Given the description of an element on the screen output the (x, y) to click on. 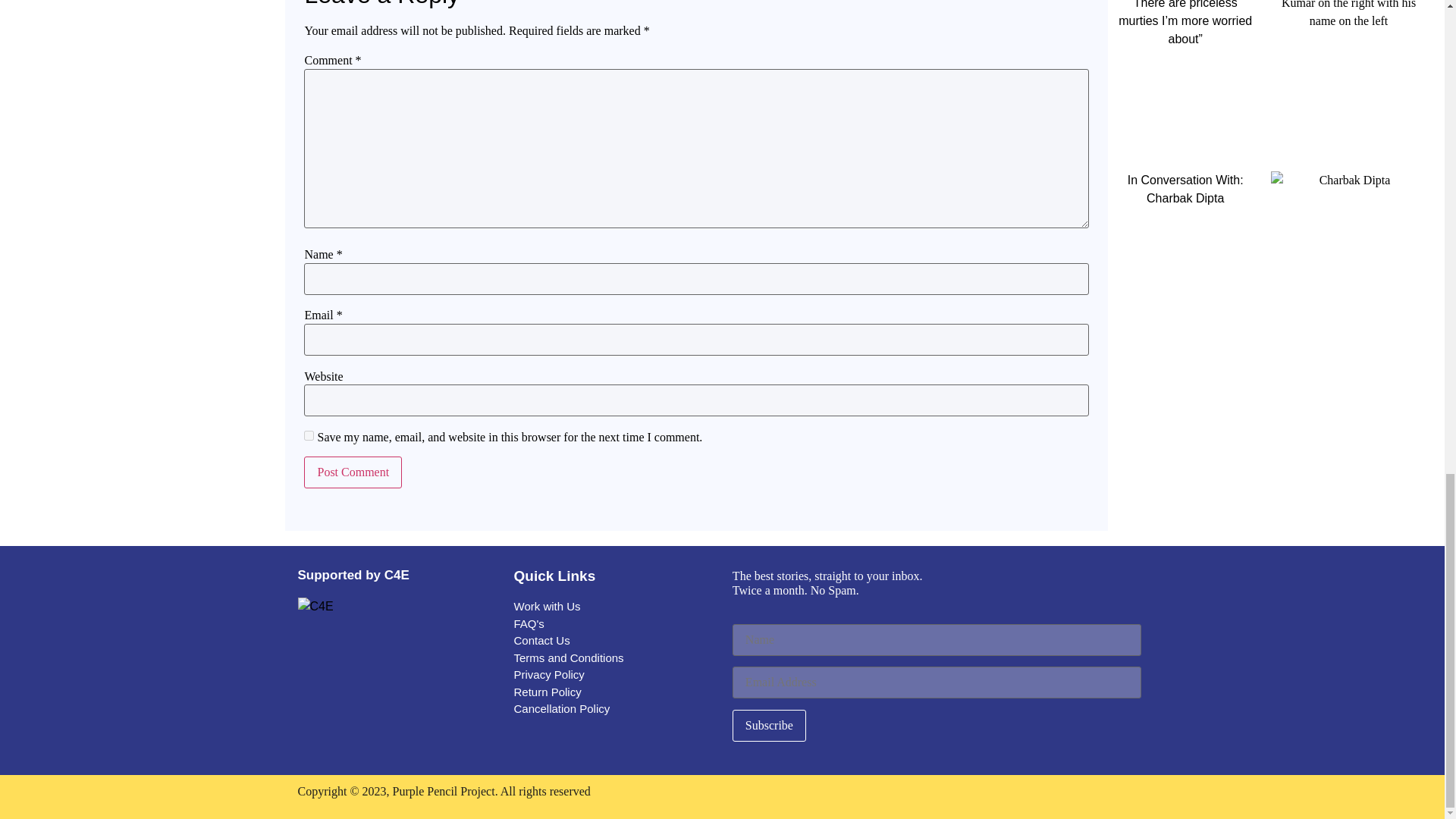
C4E (315, 606)
Post Comment (352, 472)
yes (309, 435)
Subscribe (769, 726)
